Given the description of an element on the screen output the (x, y) to click on. 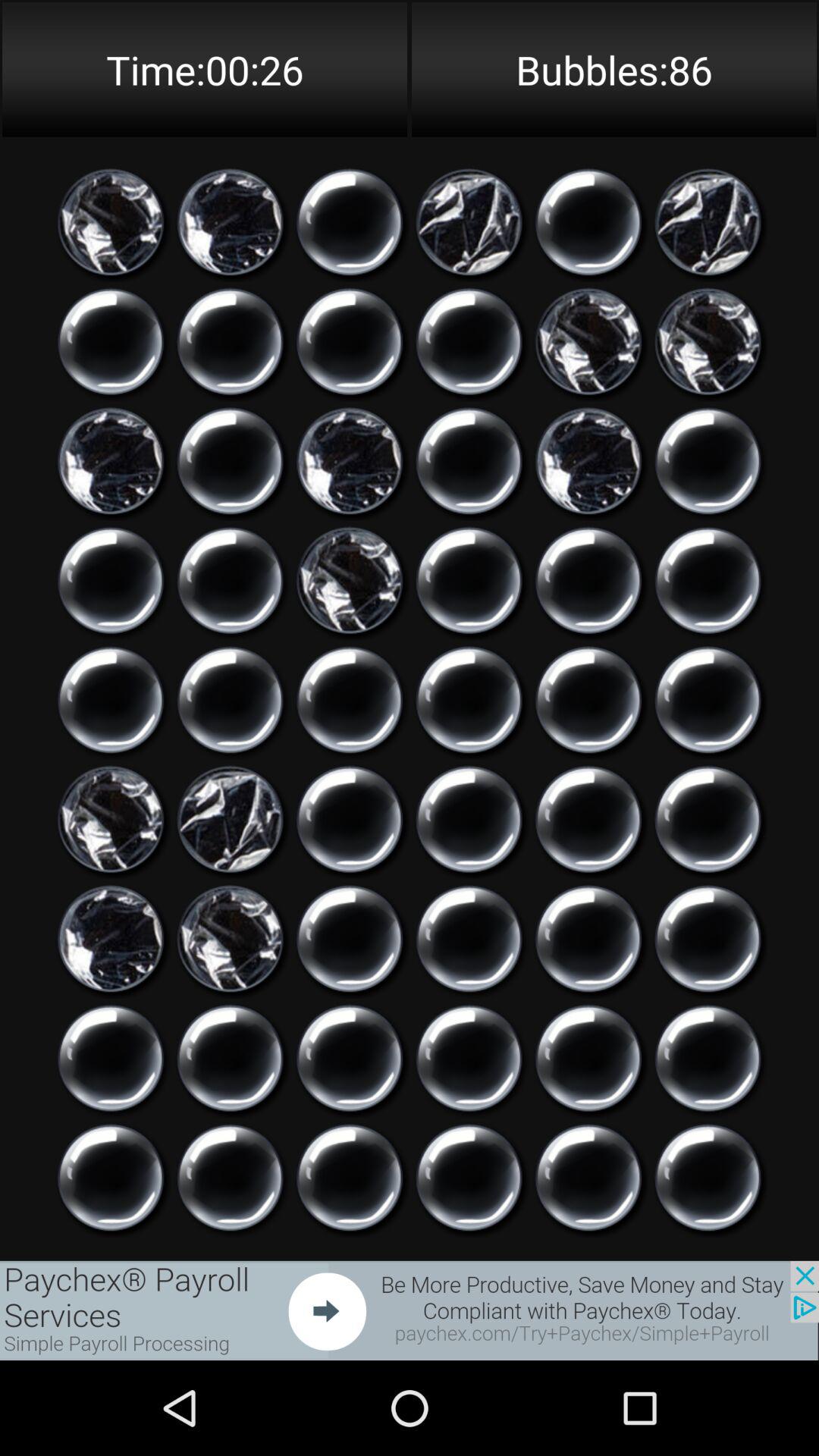
click it (468, 1177)
